Given the description of an element on the screen output the (x, y) to click on. 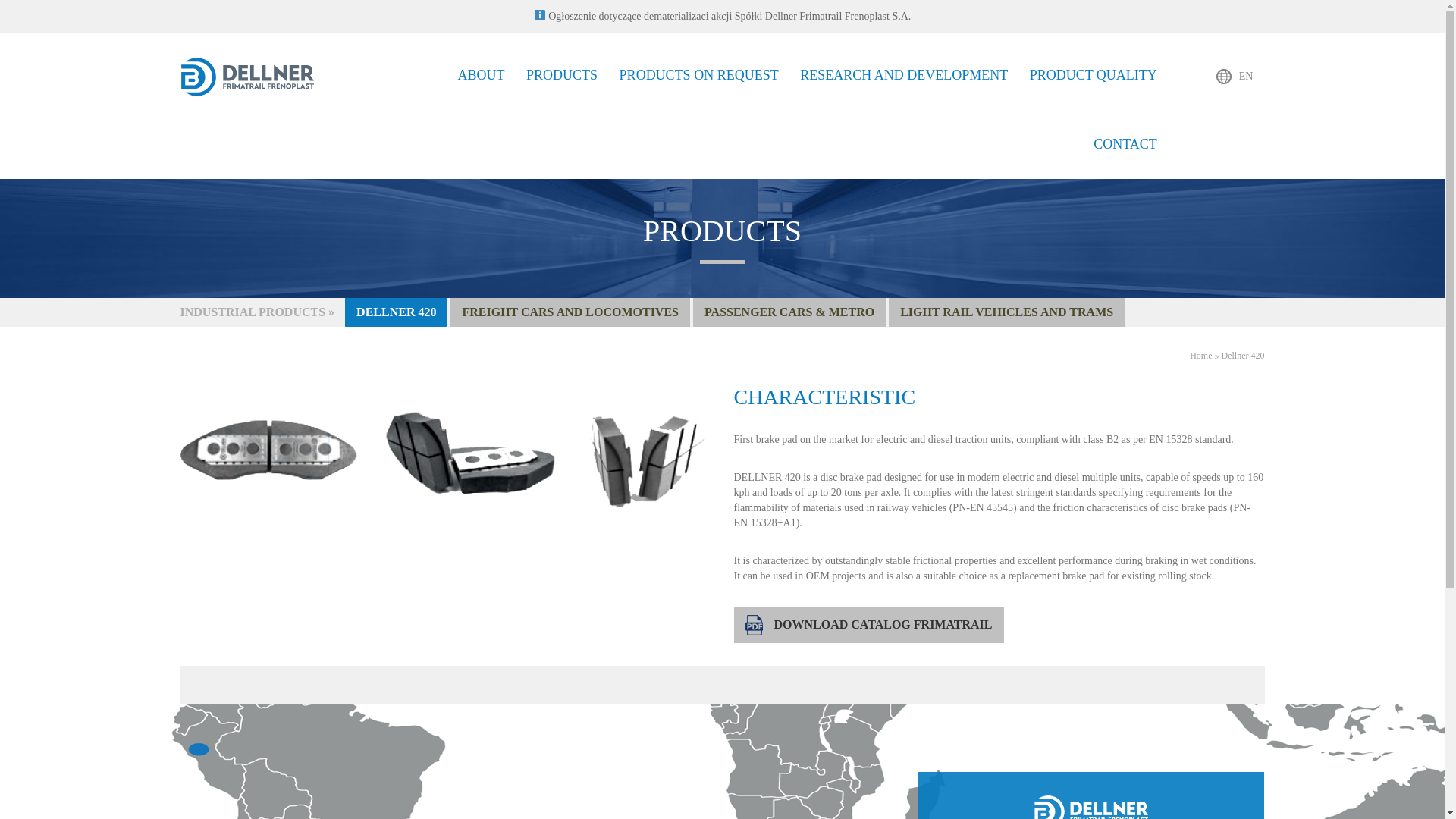
PRODUCTS ON REQUEST (699, 74)
FREIGHT CARS AND LOCOMOTIVES (569, 312)
DOWNLOAD CATALOG FRIMATRAIL (868, 624)
DELLNER 420 (395, 312)
Dellner 420 (1243, 355)
PRODUCT QUALITY (1093, 74)
CONTACT (1124, 144)
Home (1200, 355)
RESEARCH AND DEVELOPMENT (903, 74)
PRODUCTS (561, 74)
LIGHT RAIL VEHICLES AND TRAMS (1006, 312)
EN (1235, 76)
